Given the description of an element on the screen output the (x, y) to click on. 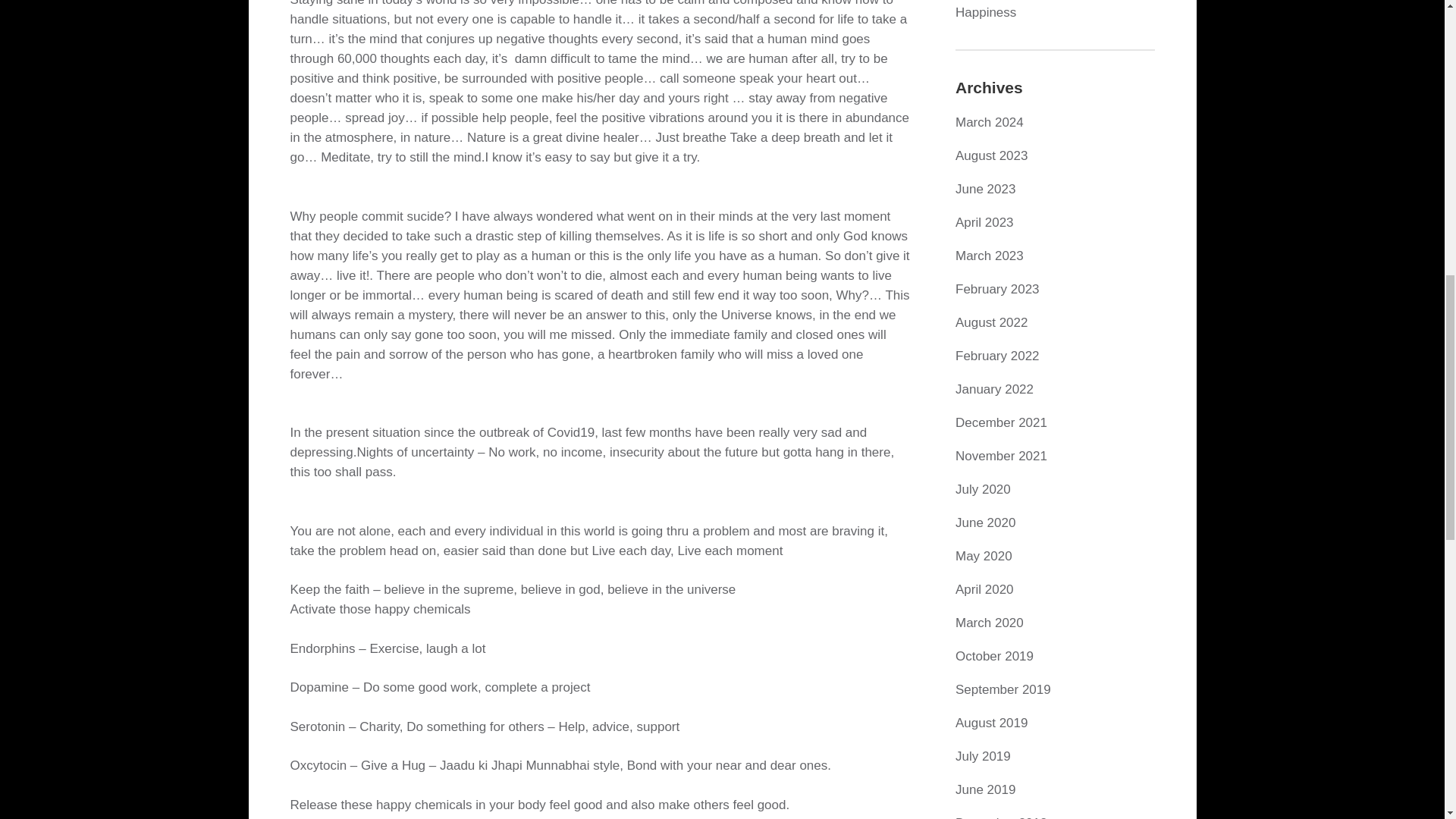
April 2023 (984, 222)
August 2023 (991, 155)
March 2024 (989, 122)
June 2023 (984, 188)
